Given the description of an element on the screen output the (x, y) to click on. 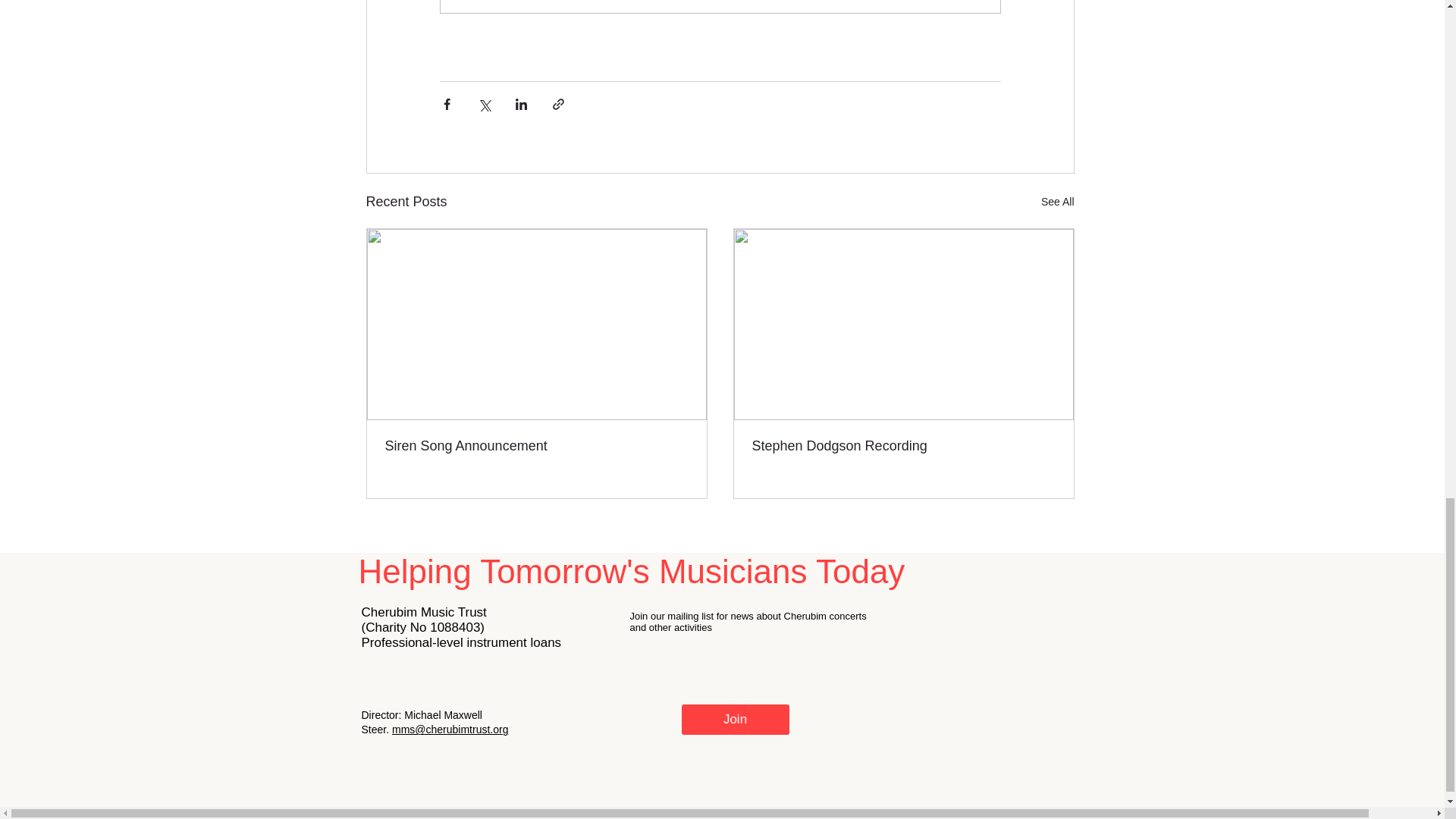
Join (735, 719)
See All (1057, 201)
Siren Song Announcement (536, 446)
Stephen Dodgson Recording (903, 446)
